Given the description of an element on the screen output the (x, y) to click on. 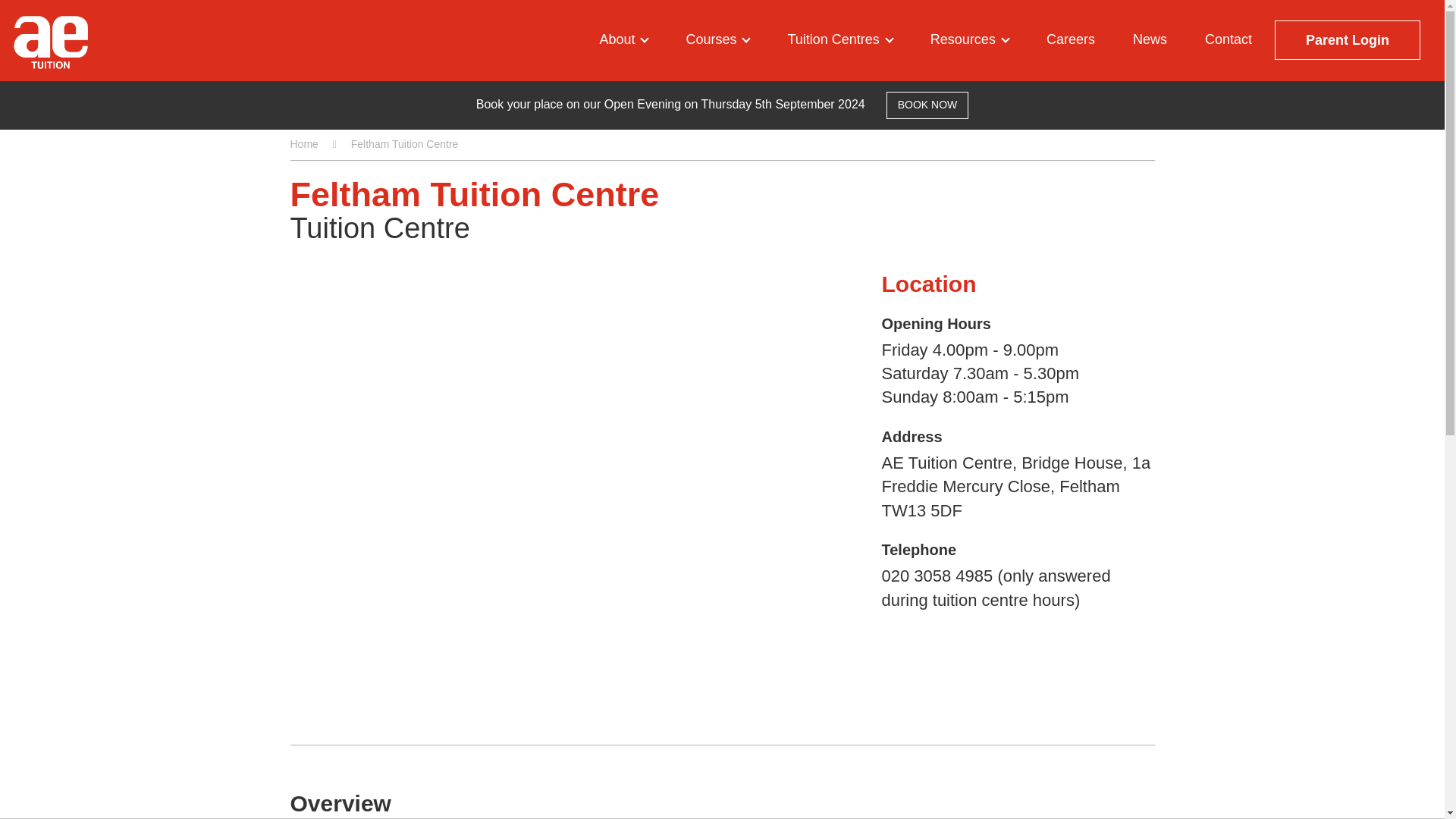
About (622, 39)
About (622, 39)
Courses (716, 39)
Courses (716, 39)
Trustpilot (129, 39)
Tuition Centres (839, 39)
